Given the description of an element on the screen output the (x, y) to click on. 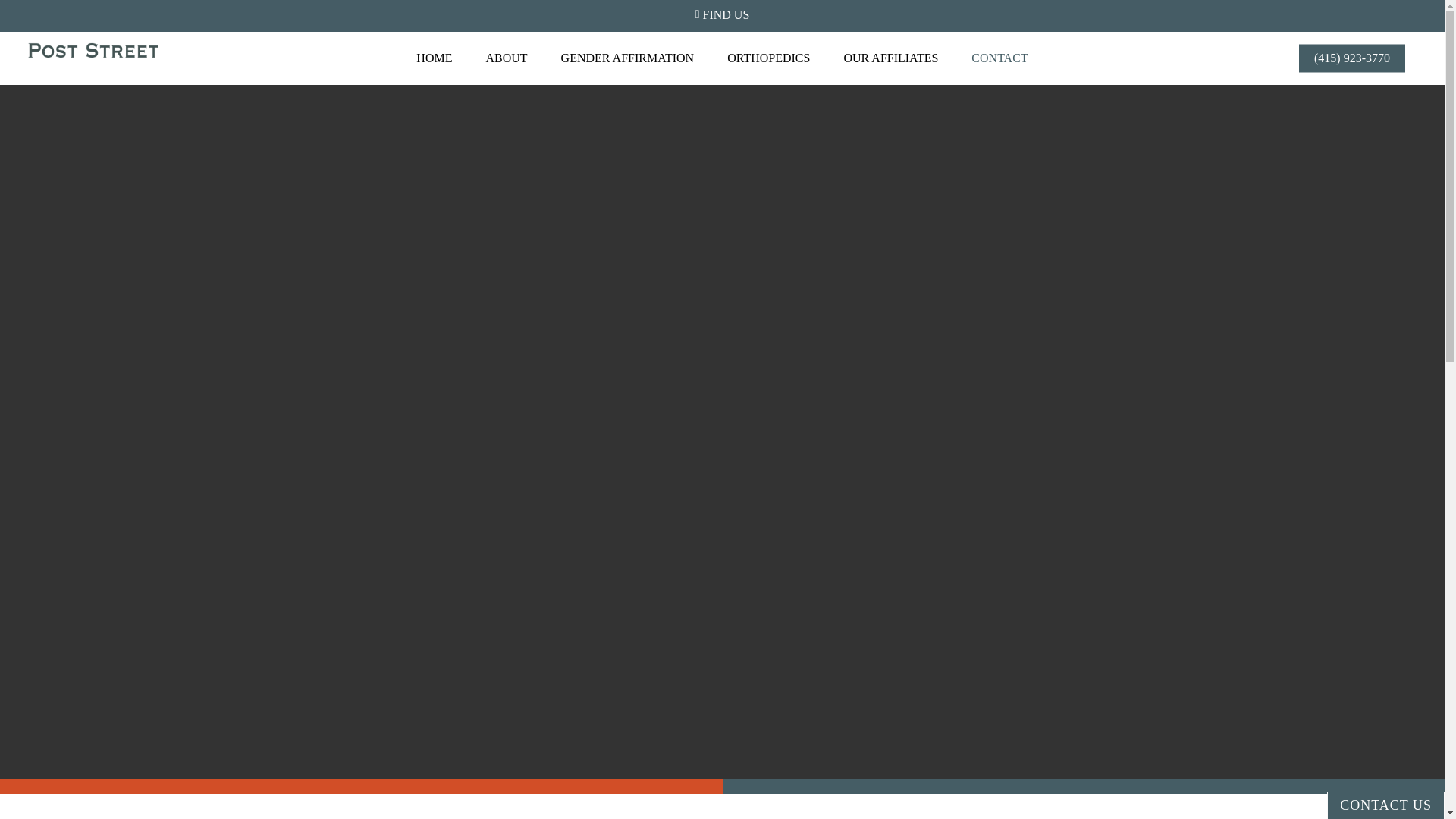
SUBMIT (845, 603)
OUR AFFILIATES (891, 58)
FIND US (722, 14)
GENDER AFFIRMATION (627, 58)
ABOUT (505, 58)
ORTHOPEDICS (768, 58)
CONTACT (999, 58)
HOME (433, 58)
